Given the description of an element on the screen output the (x, y) to click on. 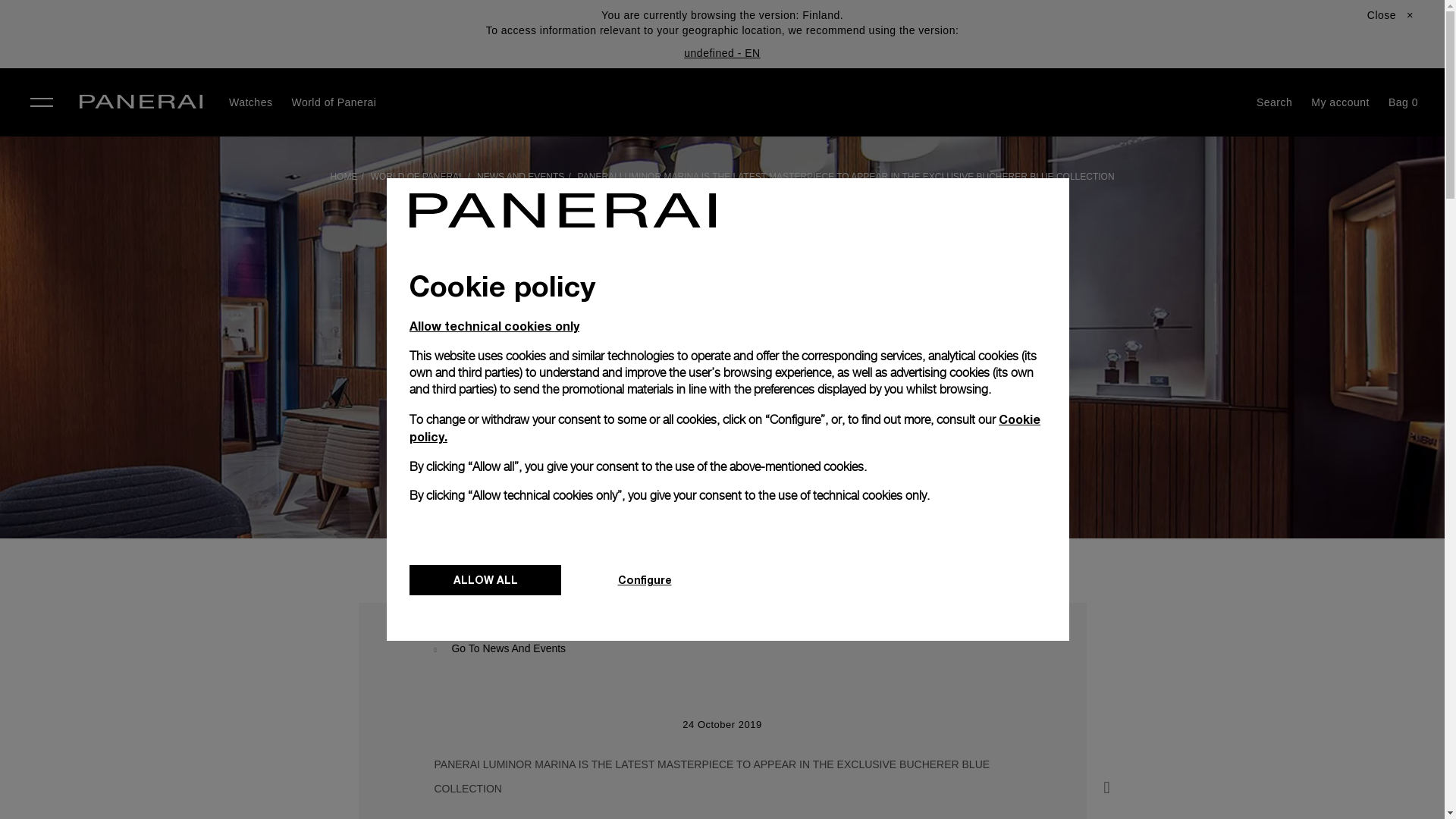
Search (1274, 102)
Watches (250, 102)
undefined - EN (722, 52)
World of Panerai (333, 102)
